Given the description of an element on the screen output the (x, y) to click on. 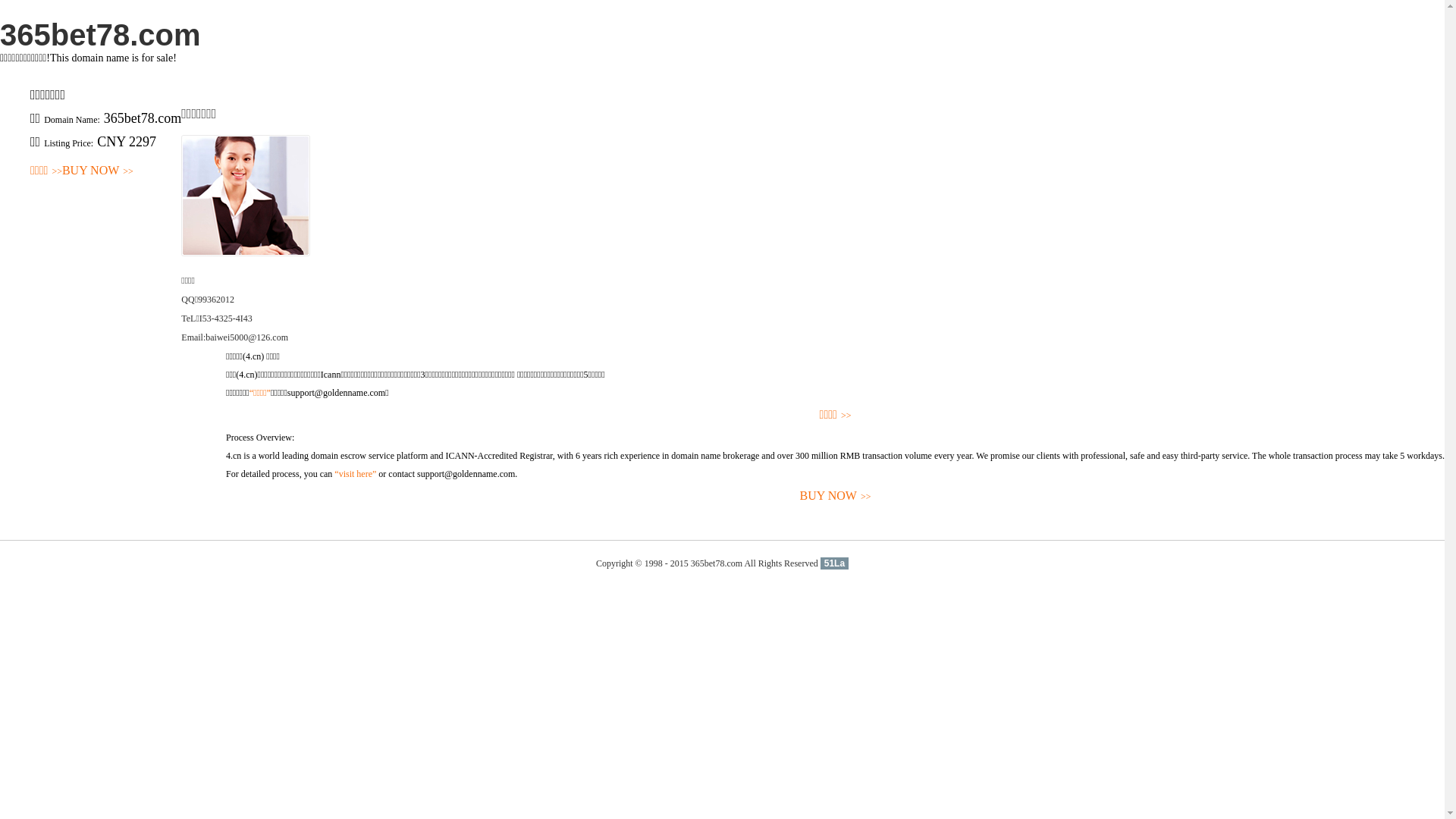
BUY NOW>> Element type: text (97, 170)
51La Element type: text (834, 563)
BUY NOW>> Element type: text (834, 496)
